Given the description of an element on the screen output the (x, y) to click on. 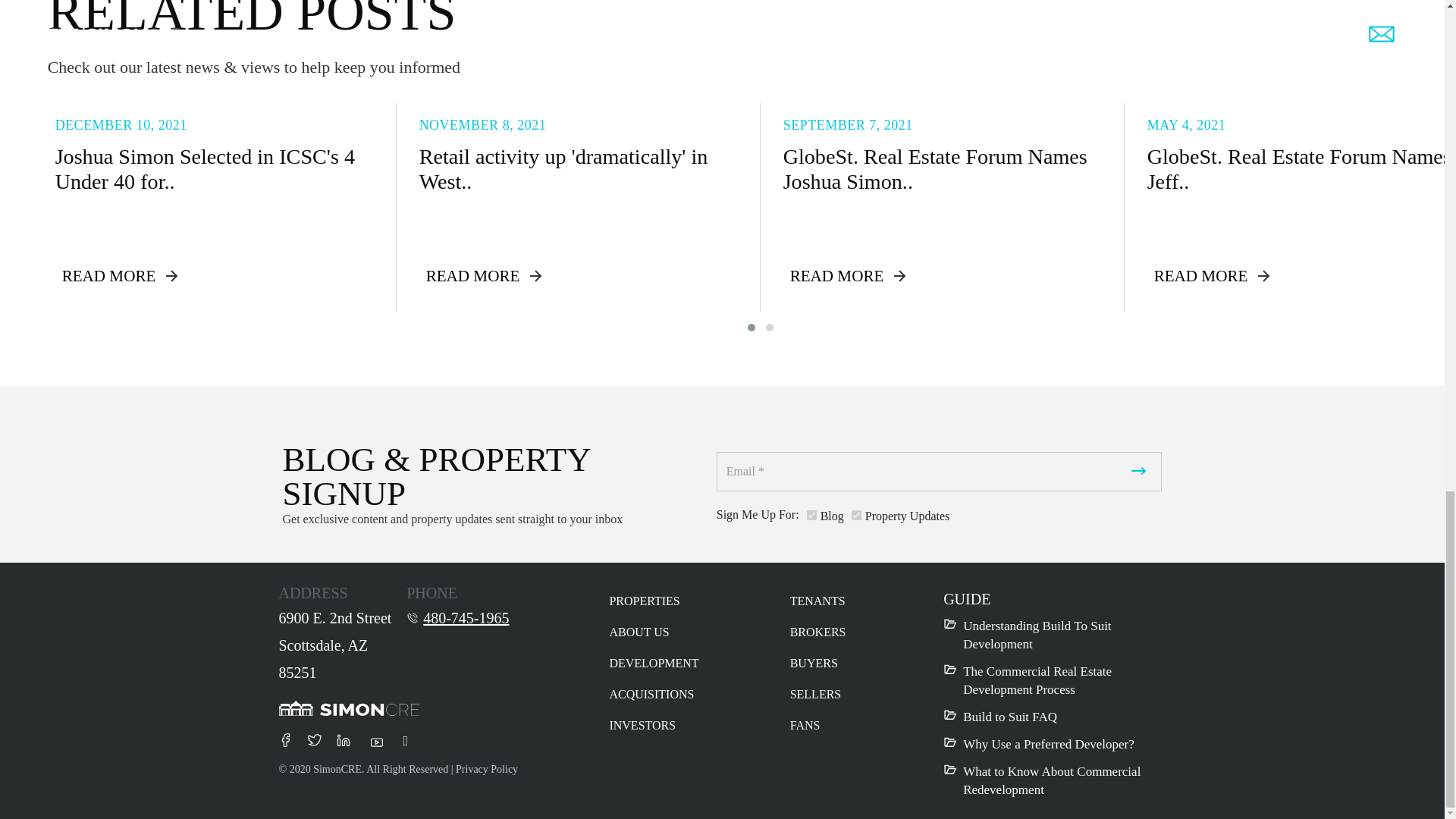
Submit (1139, 471)
Blog (811, 515)
Sale Properties (856, 515)
